Given the description of an element on the screen output the (x, y) to click on. 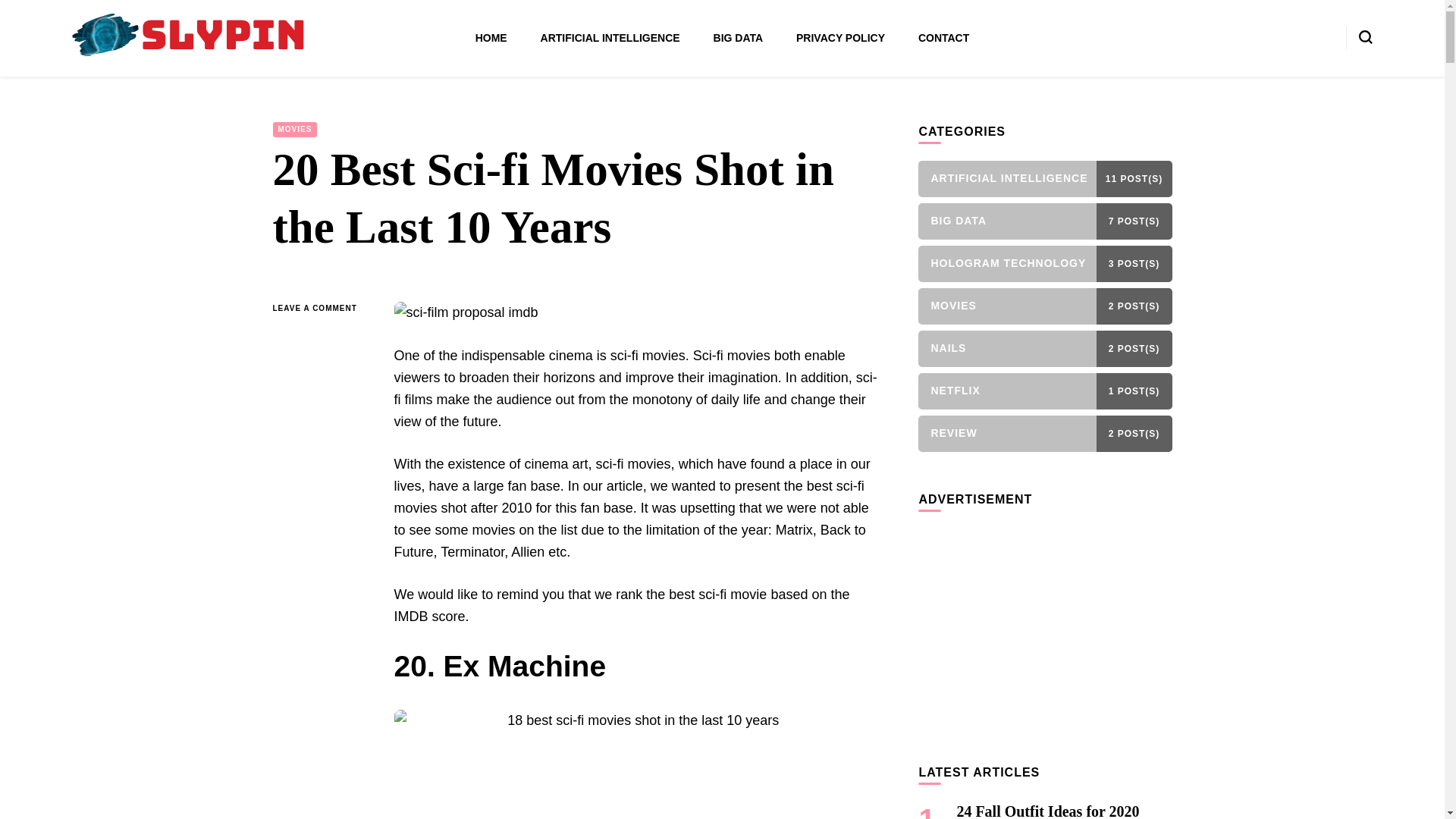
CONTACT (943, 37)
ARTIFICIAL INTELLIGENCE (609, 37)
PRIVACY POLICY (840, 37)
BIG DATA (737, 37)
SlyPin (109, 80)
24 Fall Outfit Ideas for 2020 (1047, 811)
MOVIES (295, 129)
HOME (491, 37)
